Given the description of an element on the screen output the (x, y) to click on. 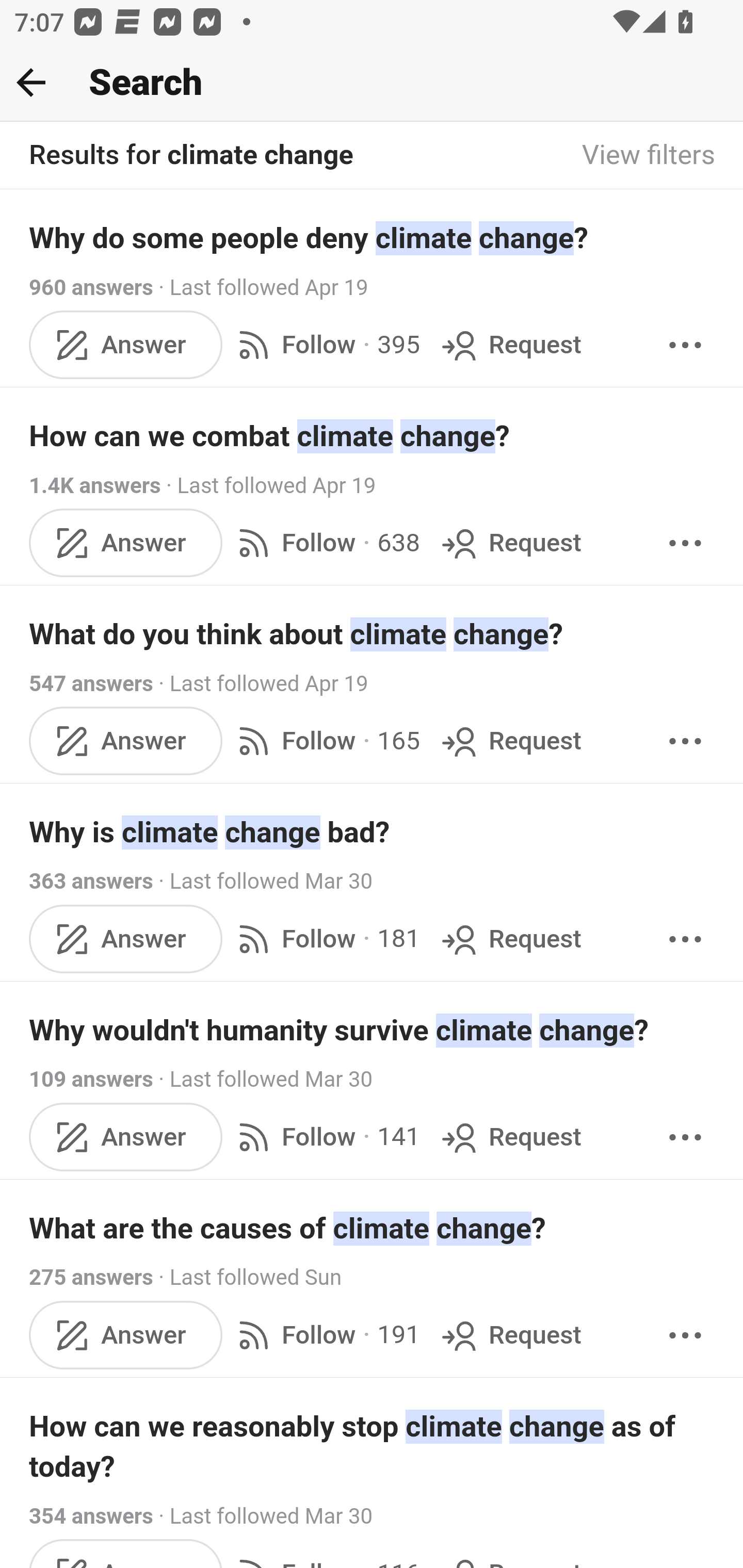
Back Search (371, 82)
Back (30, 82)
View filters (648, 155)
Why do some people deny climate change? (372, 237)
960 answers 960  answers (90, 287)
Answer (125, 343)
Follow · 395 (324, 343)
Request (509, 343)
More (684, 343)
How can we combat climate change? (372, 436)
1.4K answers 1.4K  answers (95, 484)
Answer (125, 543)
Follow · 638 (324, 543)
Request (509, 543)
More (684, 543)
What do you think about climate change? (372, 634)
547 answers 547  answers (90, 684)
Answer (125, 741)
Follow · 165 (324, 741)
Request (509, 741)
More (684, 741)
Why is climate change bad? (372, 832)
363 answers 363  answers (90, 881)
Answer (125, 939)
Follow · 181 (324, 939)
Request (509, 939)
More (684, 939)
Why wouldn't humanity survive climate change? (372, 1029)
109 answers 109  answers (90, 1079)
Answer (125, 1137)
Follow · 141 (324, 1137)
Request (509, 1137)
More (684, 1137)
What are the causes of climate change? (372, 1227)
275 answers 275  answers (90, 1277)
Answer (125, 1334)
Follow · 191 (324, 1334)
Request (509, 1334)
More (684, 1334)
